Given the description of an element on the screen output the (x, y) to click on. 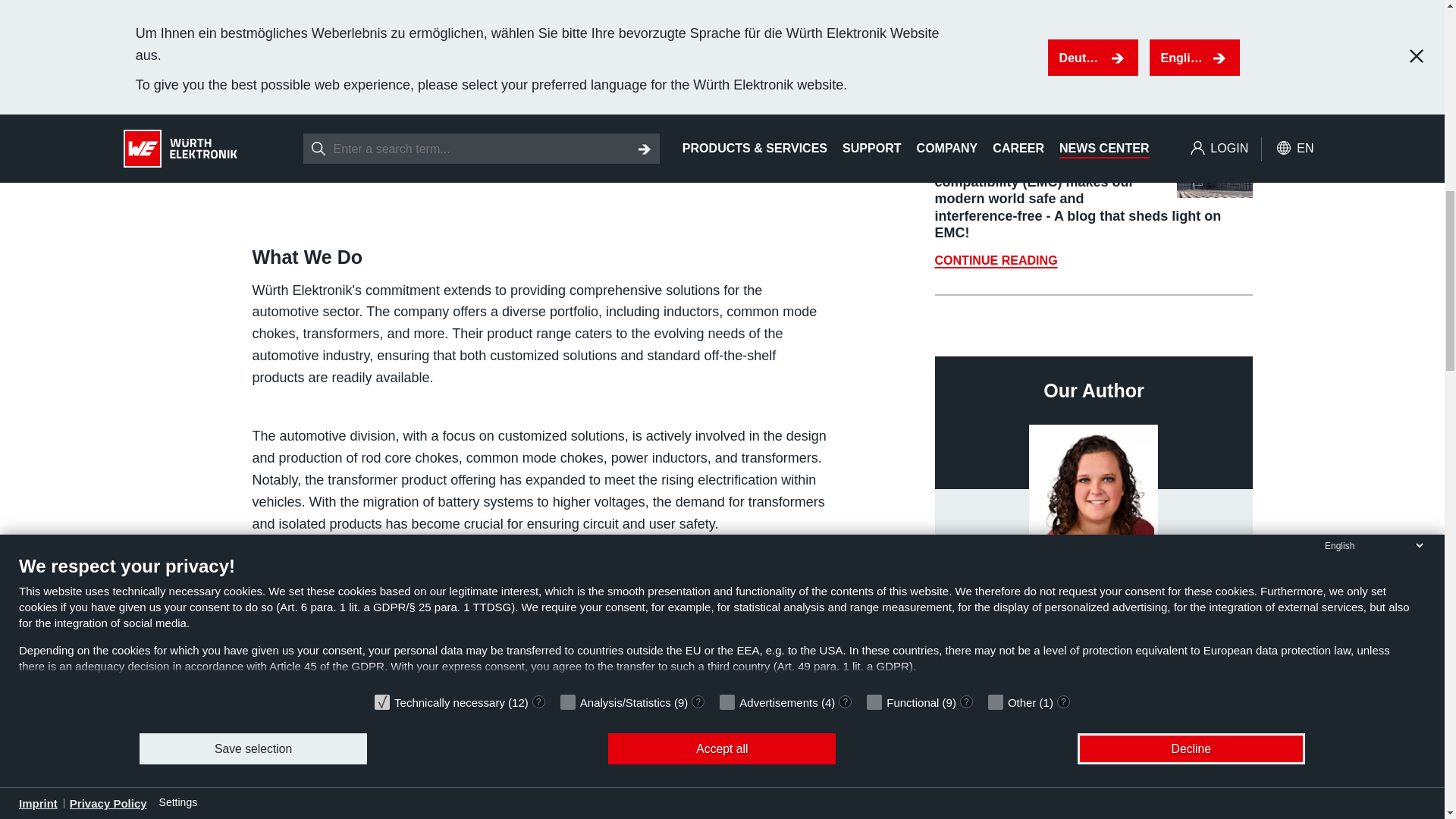
TO THE PROFILE (1092, 653)
